Given the description of an element on the screen output the (x, y) to click on. 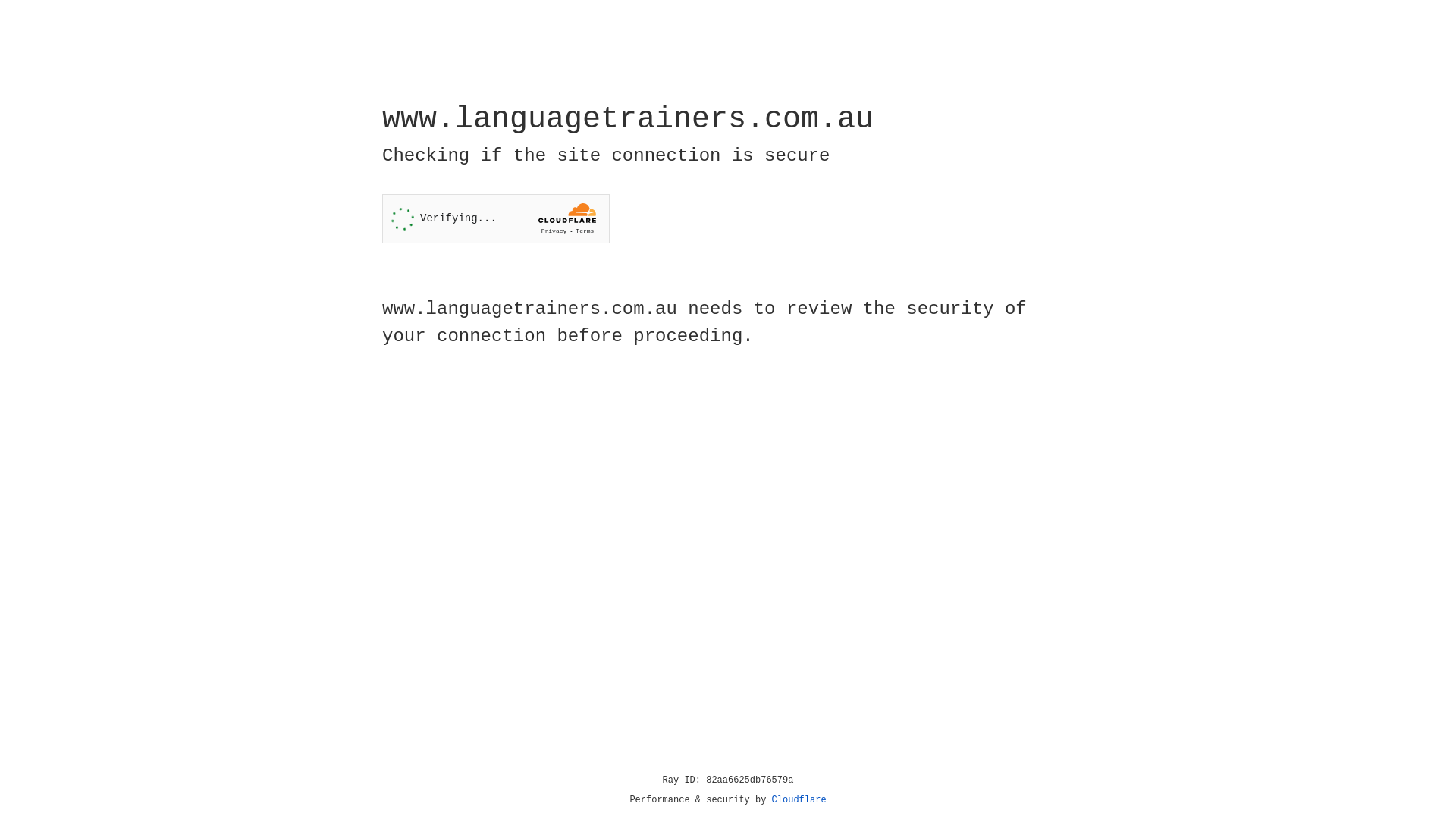
Widget containing a Cloudflare security challenge Element type: hover (495, 218)
Cloudflare Element type: text (798, 799)
